Given the description of an element on the screen output the (x, y) to click on. 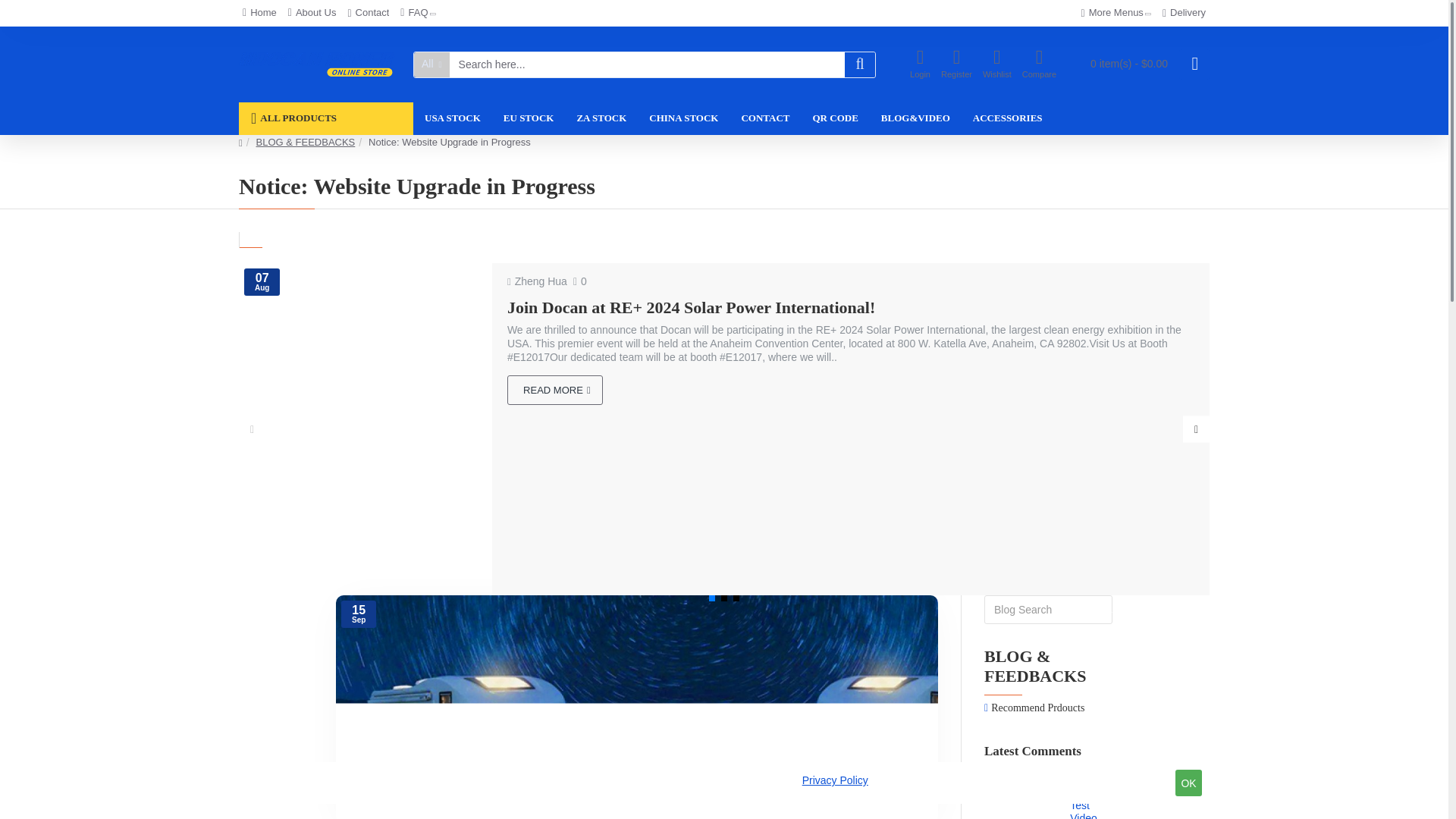
Wishlist (996, 64)
More Menus (1115, 13)
ALL PRODUCTS (325, 118)
FAQ (417, 13)
Register (956, 64)
Home (259, 13)
DOCAN POWER (316, 64)
Compare (1038, 64)
About Us (311, 13)
Contact (368, 13)
